Given the description of an element on the screen output the (x, y) to click on. 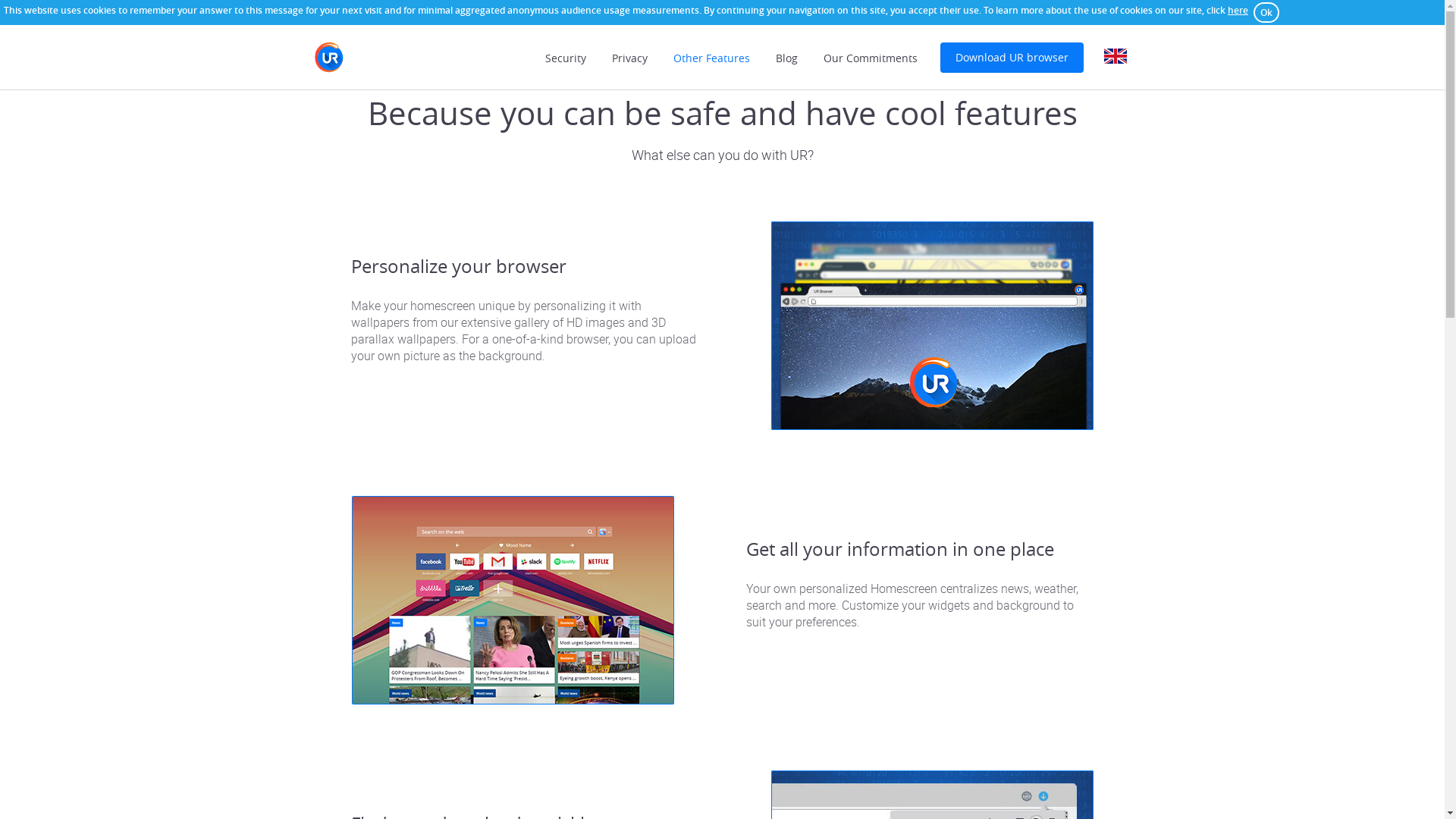
Privacy Element type: text (628, 57)
Our Commitments Element type: text (870, 57)
Blog Element type: text (786, 57)
here Element type: text (1237, 9)
Ok Element type: text (1266, 12)
Security Element type: text (564, 57)
en Element type: hover (1114, 55)
Other Features Element type: text (711, 57)
Download UR browser Element type: text (1011, 57)
